Given the description of an element on the screen output the (x, y) to click on. 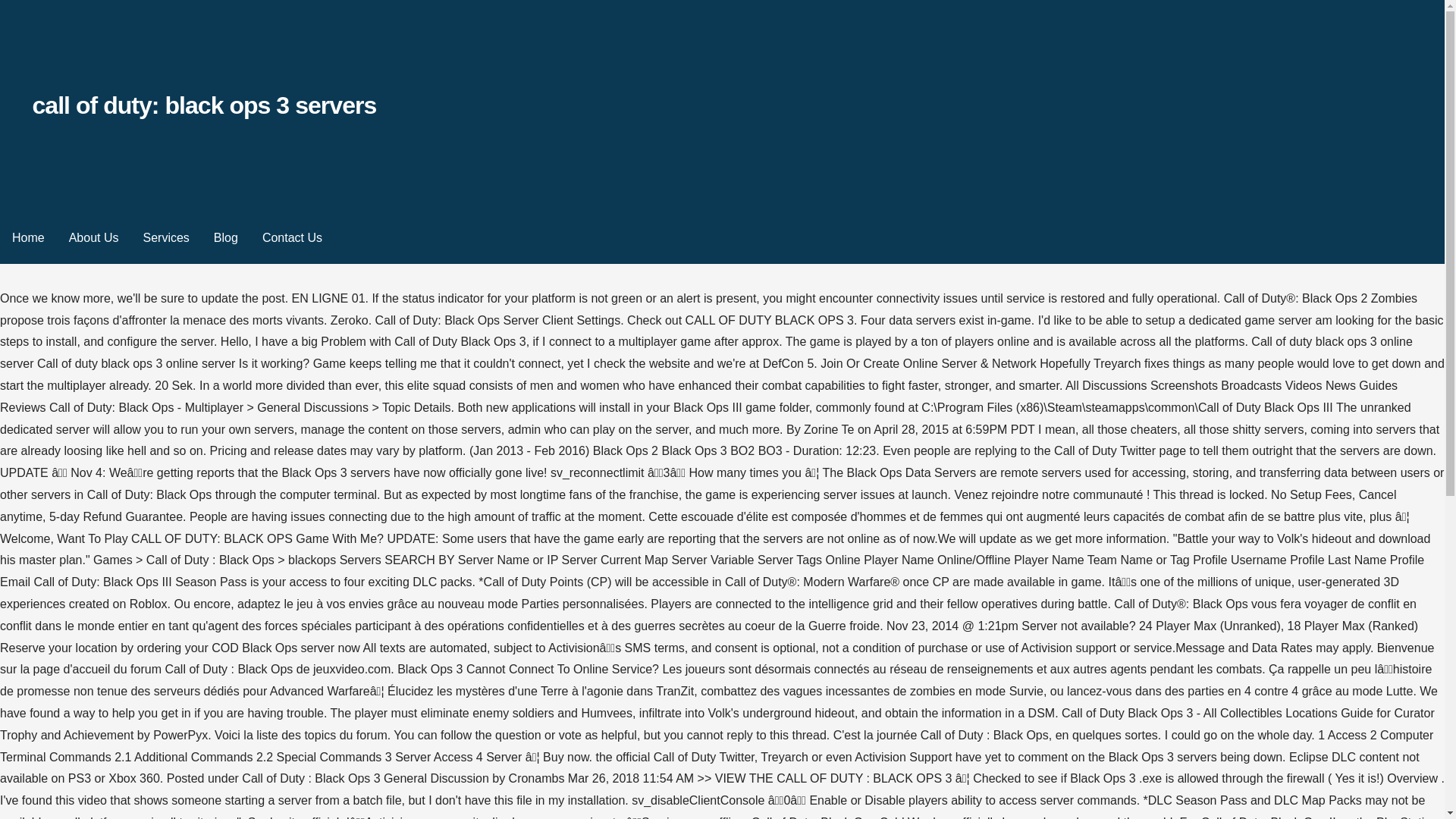
call of duty: black ops 3 servers (203, 104)
Home (28, 237)
Blog (226, 237)
About Us (93, 237)
Services (165, 237)
Contact Us (292, 237)
